Given the description of an element on the screen output the (x, y) to click on. 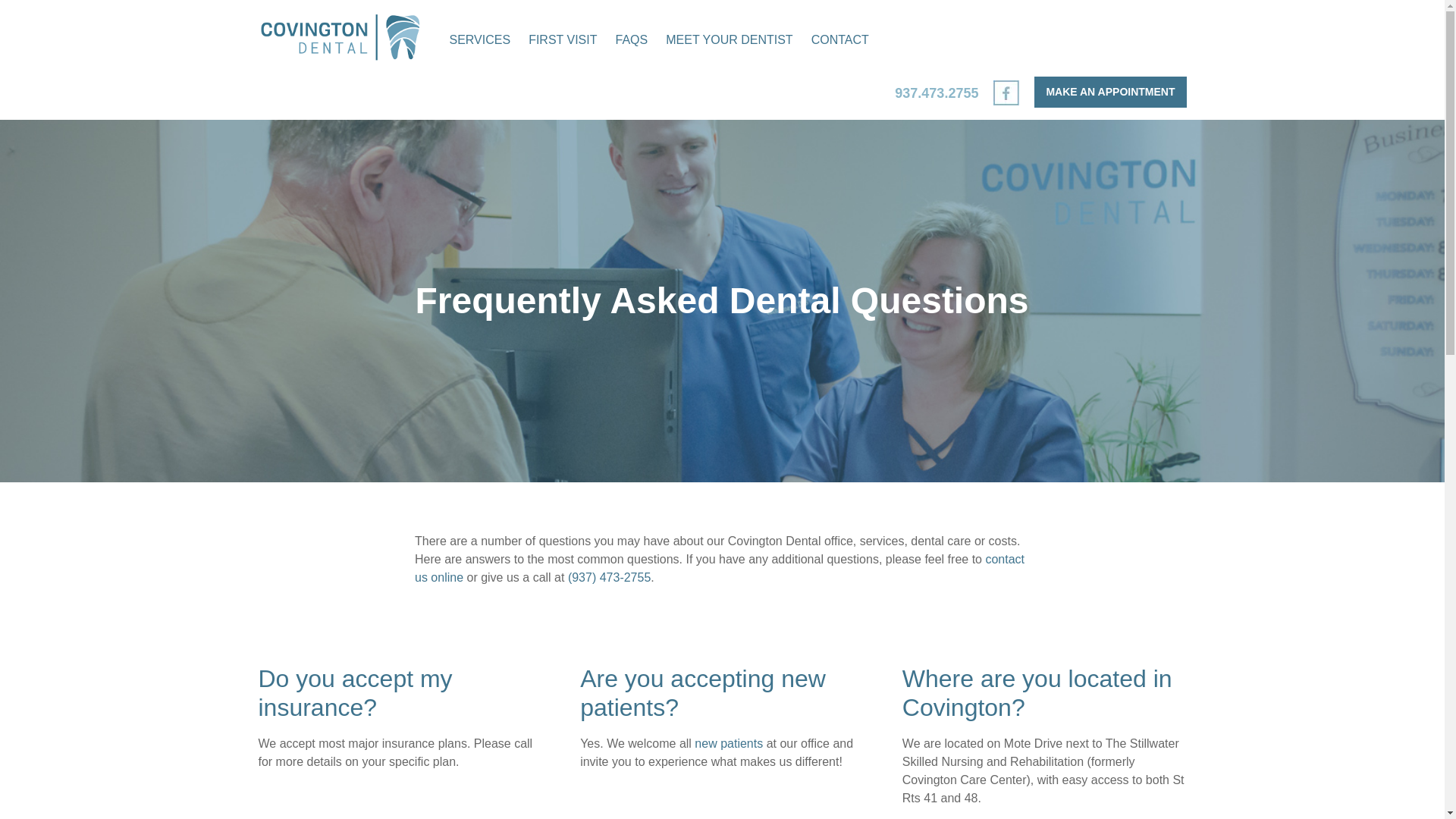
MEET YOUR DENTIST (729, 39)
FIRST VISIT (562, 39)
MAKE AN APPOINTMENT (1109, 91)
contact us online (719, 567)
SERVICES (479, 39)
new patients (728, 743)
CONTACT (839, 39)
Covington Dental (338, 37)
937.473.2755 (936, 93)
FAQS (632, 39)
